Given the description of an element on the screen output the (x, y) to click on. 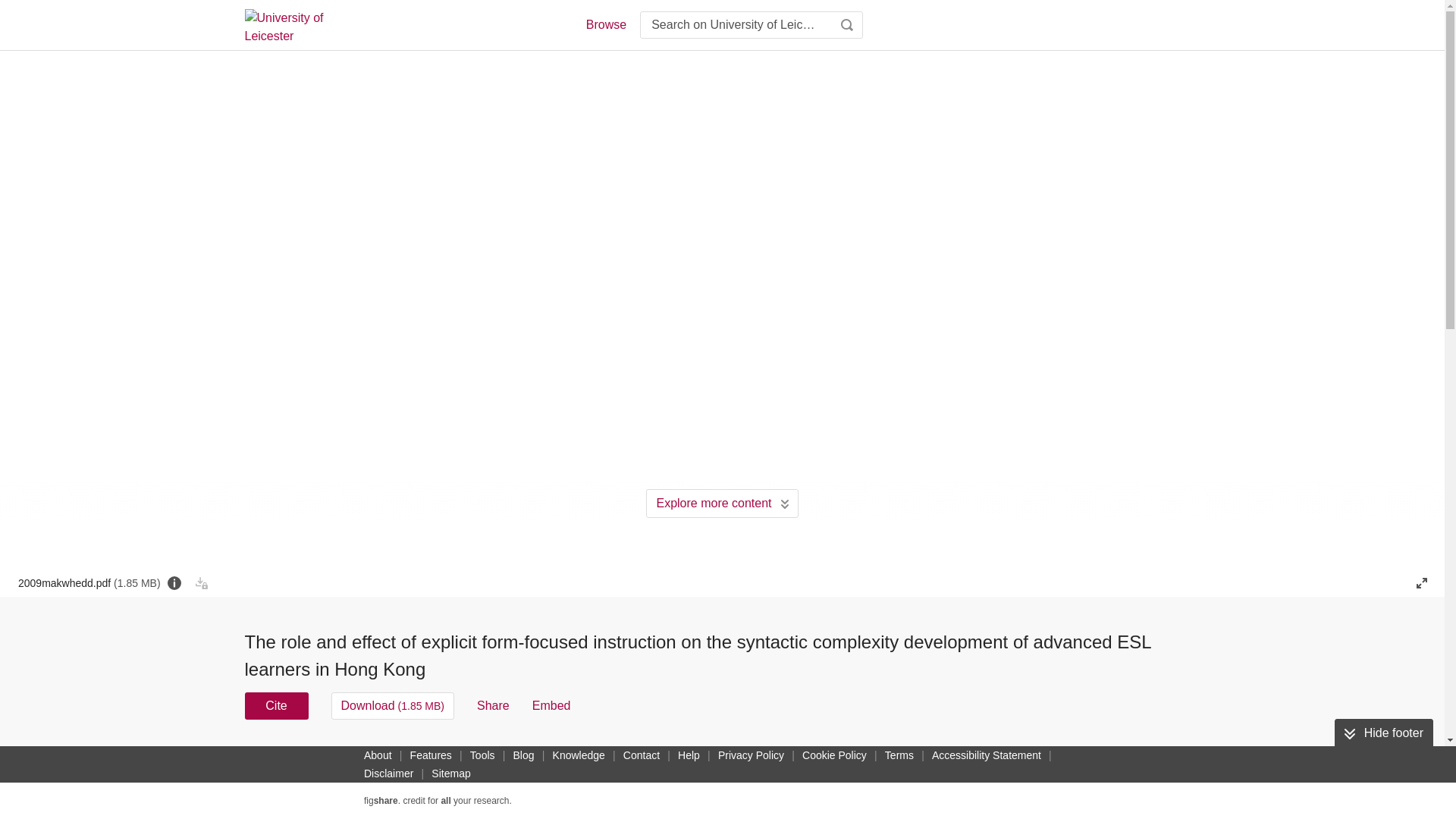
Features (431, 755)
Hide footer (1383, 733)
Help (688, 755)
Knowledge (579, 755)
USAGE METRICS (976, 759)
Blog (523, 755)
Share (493, 705)
Browse (605, 24)
Privacy Policy (751, 755)
About (377, 755)
Terms (899, 755)
Cookie Policy (833, 755)
Tools (482, 755)
Accessibility Statement (986, 755)
